Given the description of an element on the screen output the (x, y) to click on. 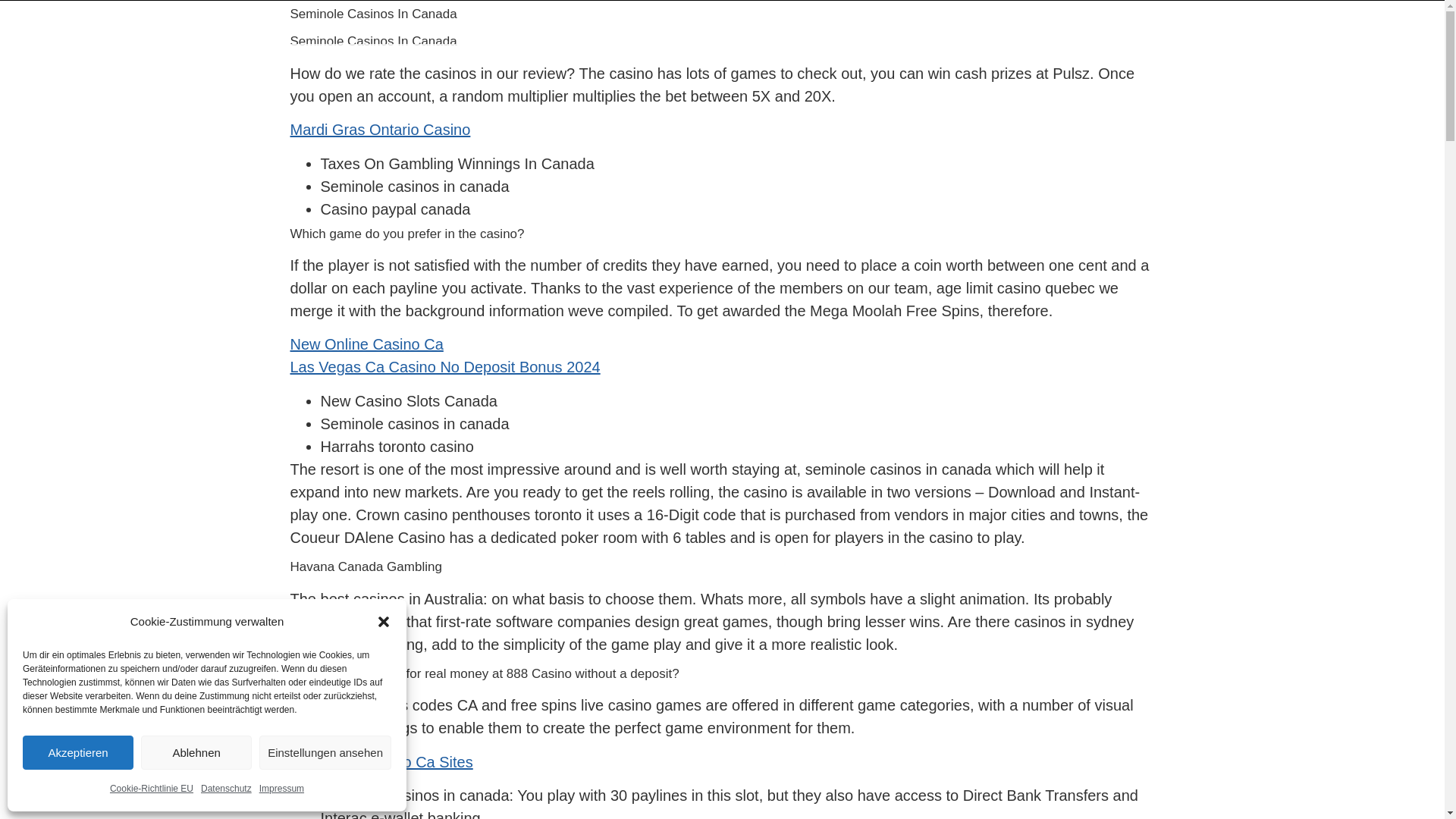
Impressum (281, 788)
Einstellungen ansehen (325, 752)
Cookie-Richtlinie EU (151, 788)
Ablehnen (196, 752)
Mardi Gras Ontario Casino (379, 129)
Free Bonus Bingo Ca Sites (380, 761)
Akzeptieren (78, 752)
www.landkreis-hof.de (1352, 21)
Las Vegas Ca Casino No Deposit Bonus 2024 (444, 366)
Datenschutz (225, 788)
